Given the description of an element on the screen output the (x, y) to click on. 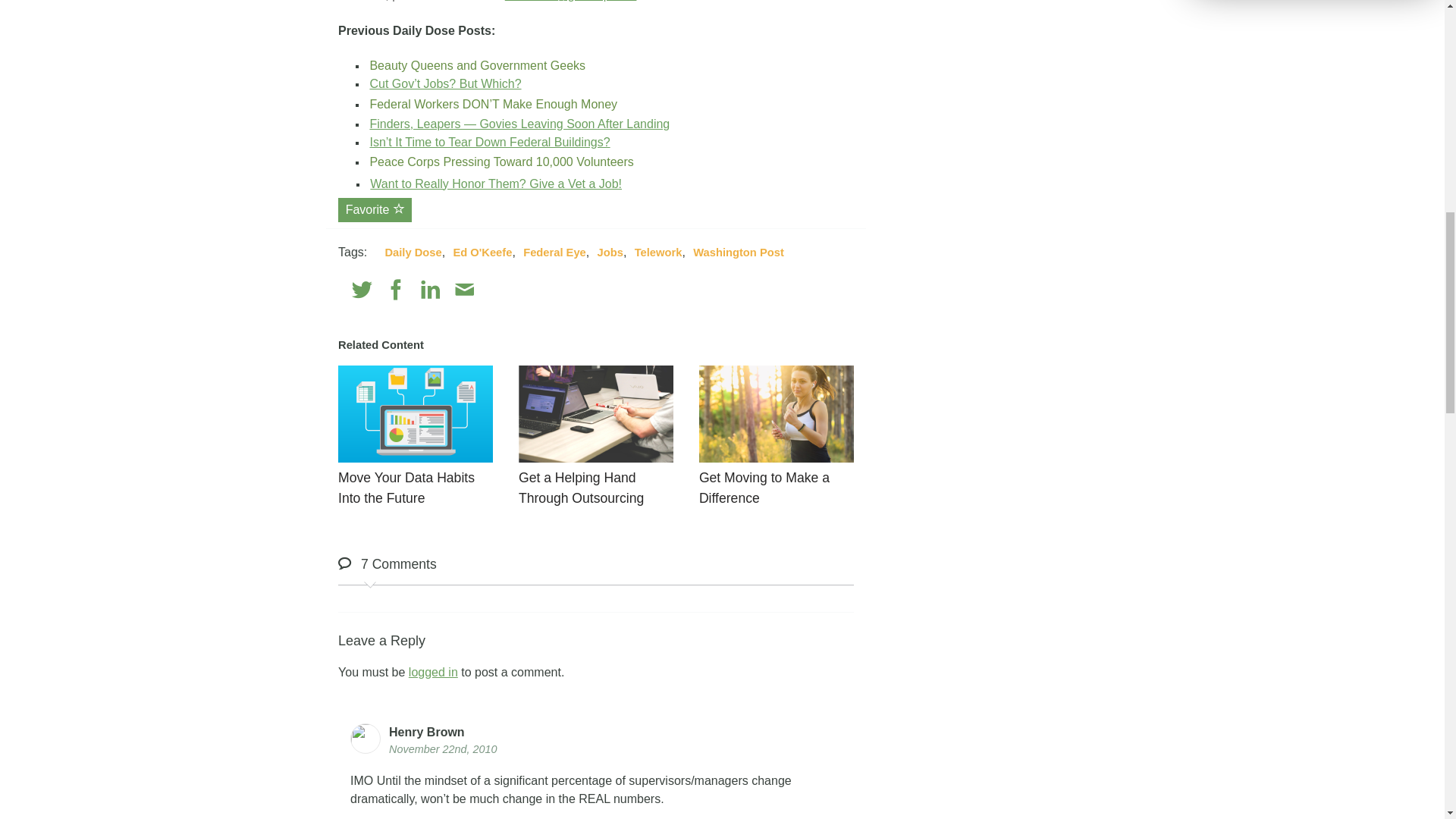
Facebook (395, 290)
Email (464, 290)
Twitter (362, 290)
Print (497, 290)
Linkedin (430, 290)
